Given the description of an element on the screen output the (x, y) to click on. 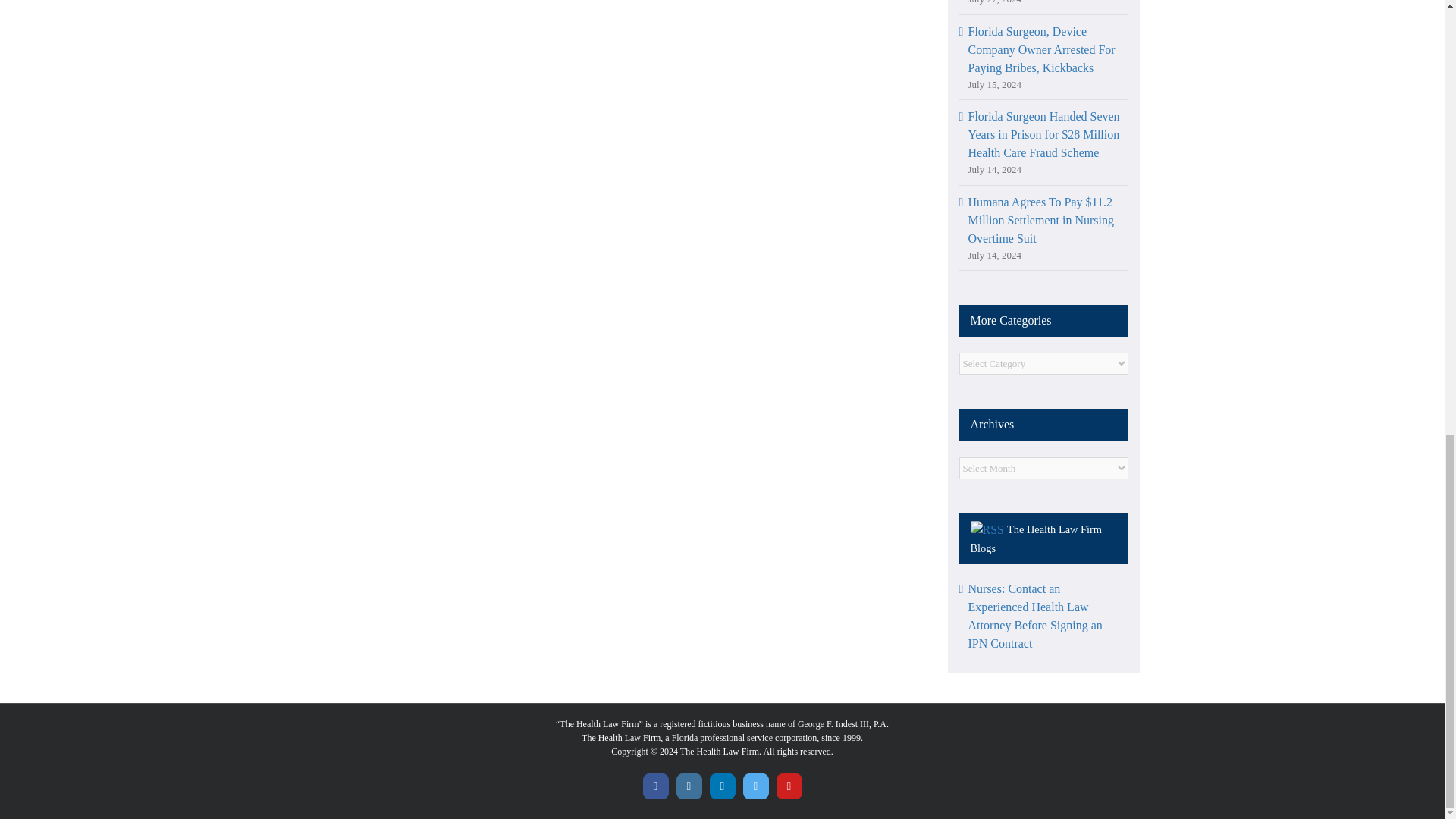
Instagram (689, 786)
YouTube (789, 786)
Twitter (755, 786)
LinkedIn (722, 786)
Facebook (655, 786)
